Given the description of an element on the screen output the (x, y) to click on. 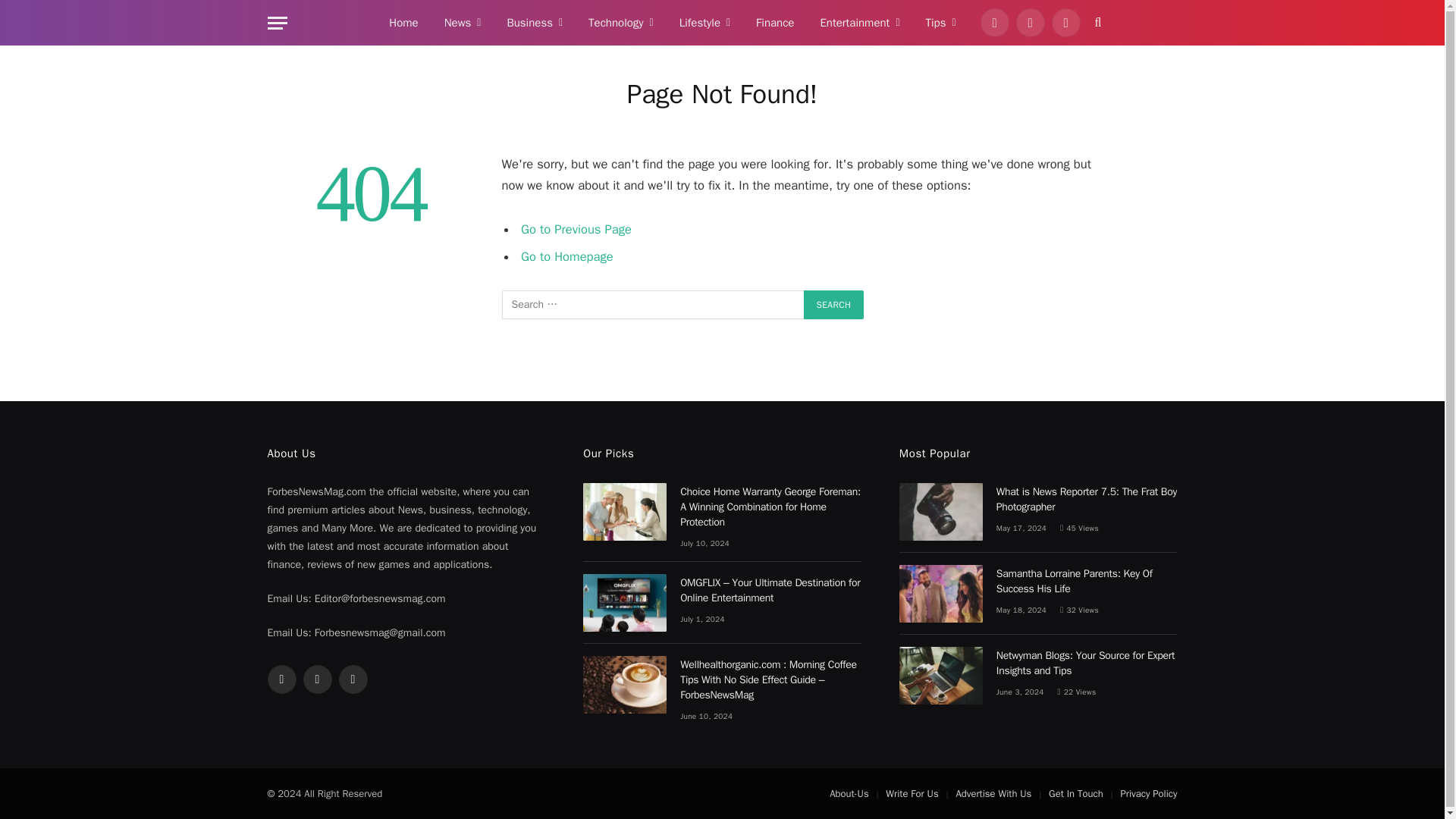
Home (402, 22)
Business (534, 22)
News (462, 22)
Search (833, 304)
Search (833, 304)
